Given the description of an element on the screen output the (x, y) to click on. 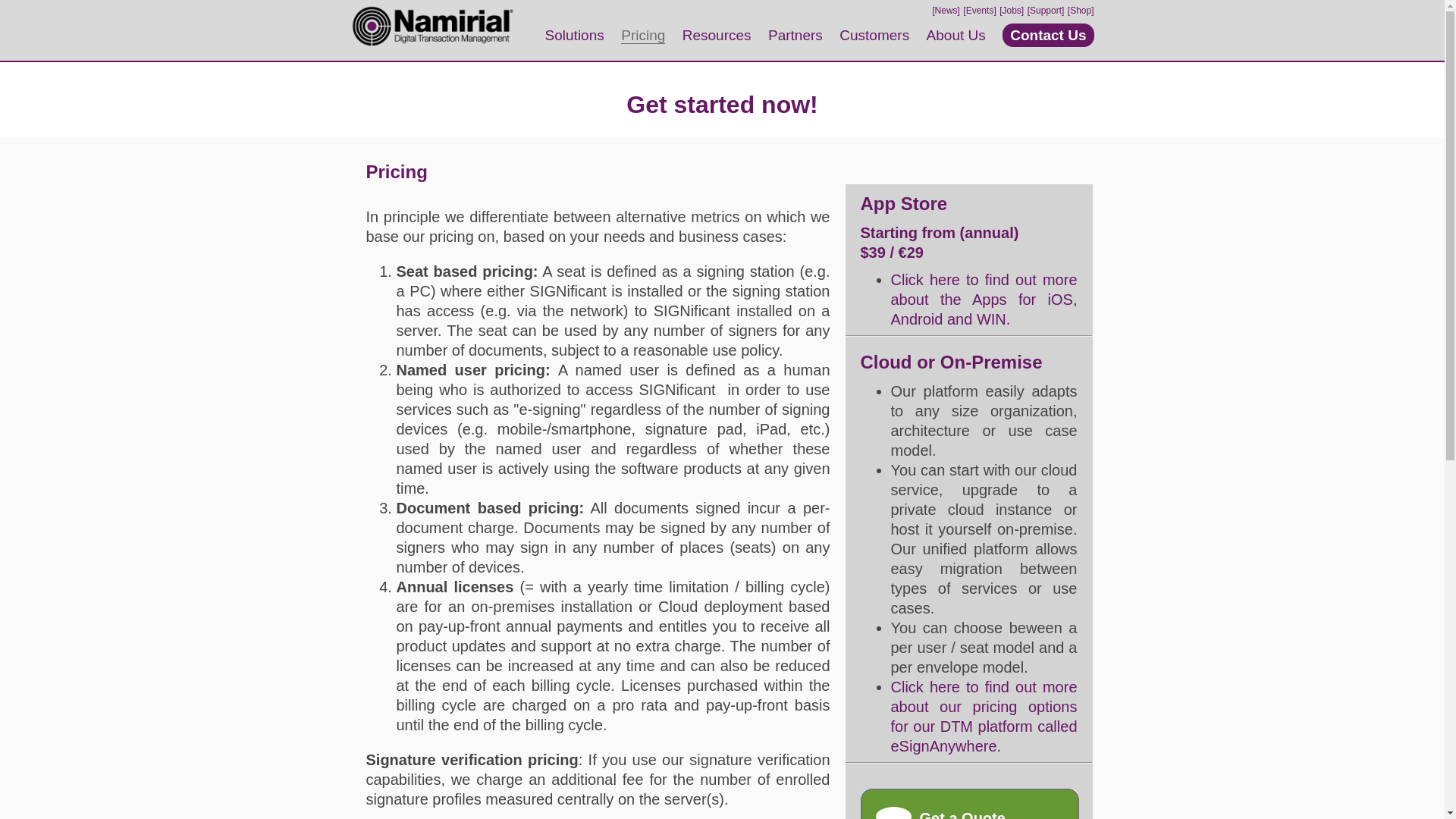
Customers (874, 35)
Resources (716, 35)
Contact us (969, 803)
Partners (795, 35)
Pricing (643, 35)
About Us (955, 35)
Contact Us (1048, 34)
Get a Quote (969, 803)
Solutions (574, 35)
